Given the description of an element on the screen output the (x, y) to click on. 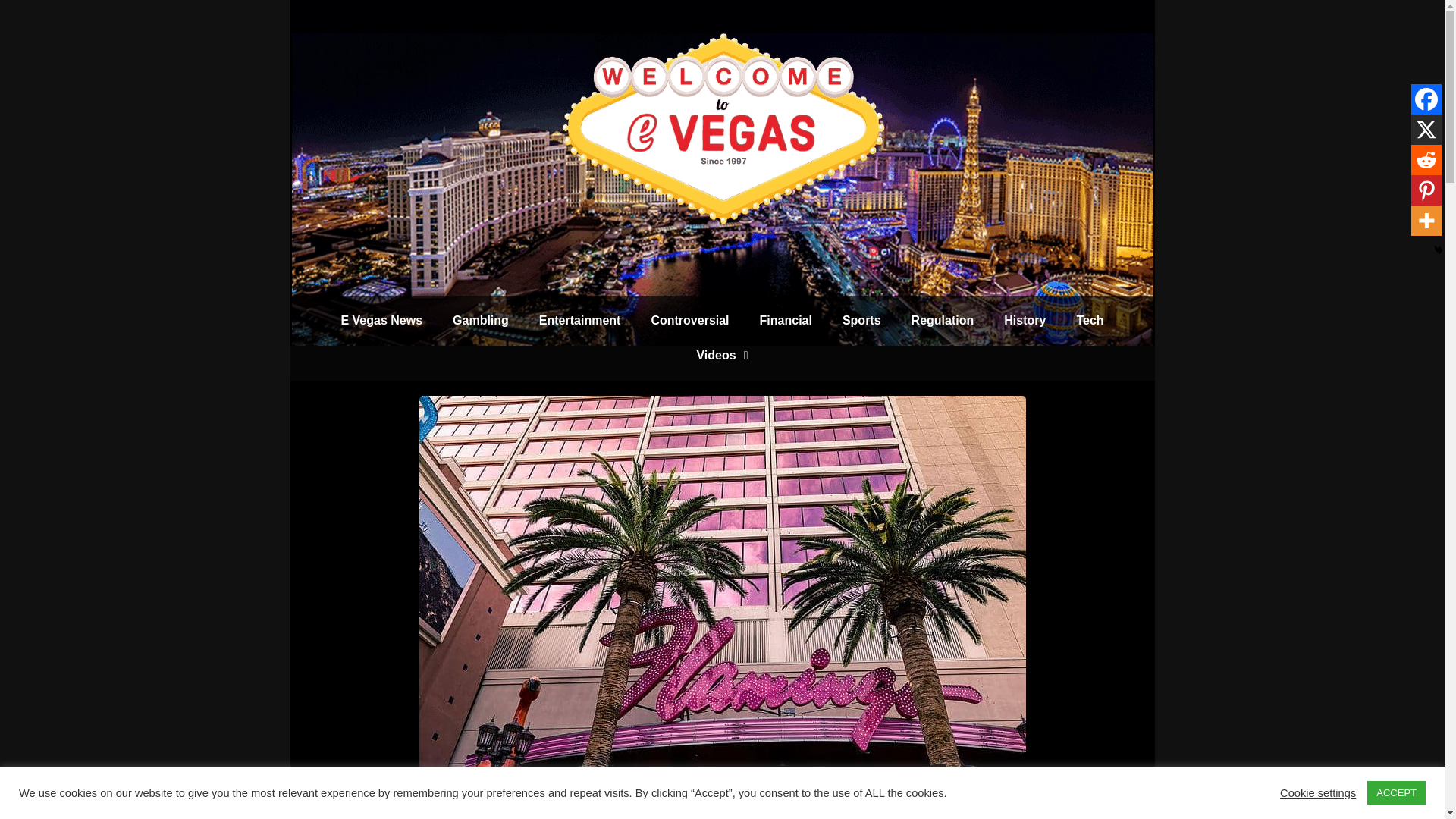
History (1024, 320)
Entertainment (580, 320)
E Vegas News (381, 320)
Pinterest (1425, 190)
Sports (861, 320)
Videos (721, 355)
Tech (1089, 320)
Regulation (943, 320)
More (1425, 220)
Reddit (1425, 159)
